Given the description of an element on the screen output the (x, y) to click on. 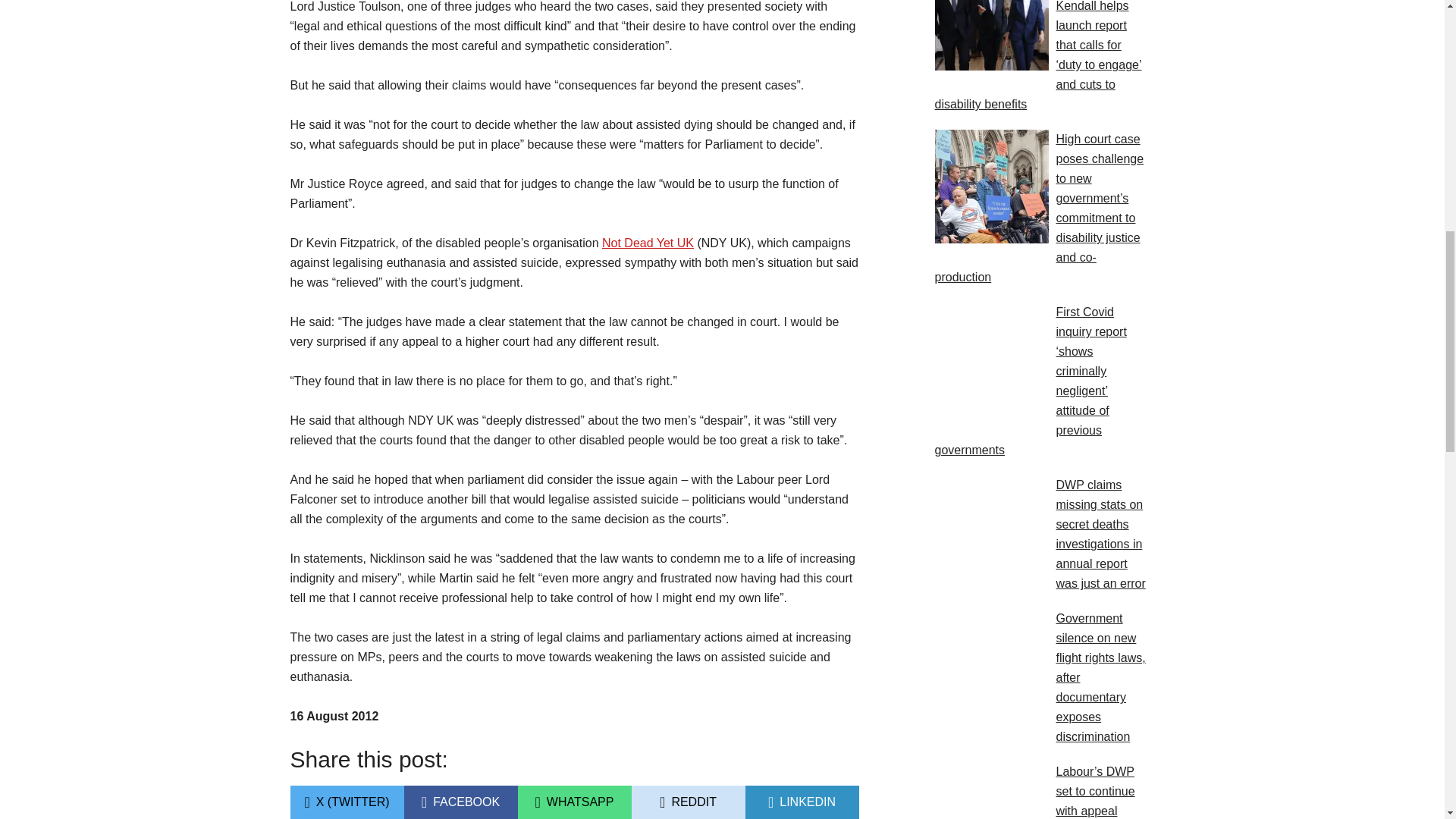
Not Dead Yet UK (459, 802)
